Given the description of an element on the screen output the (x, y) to click on. 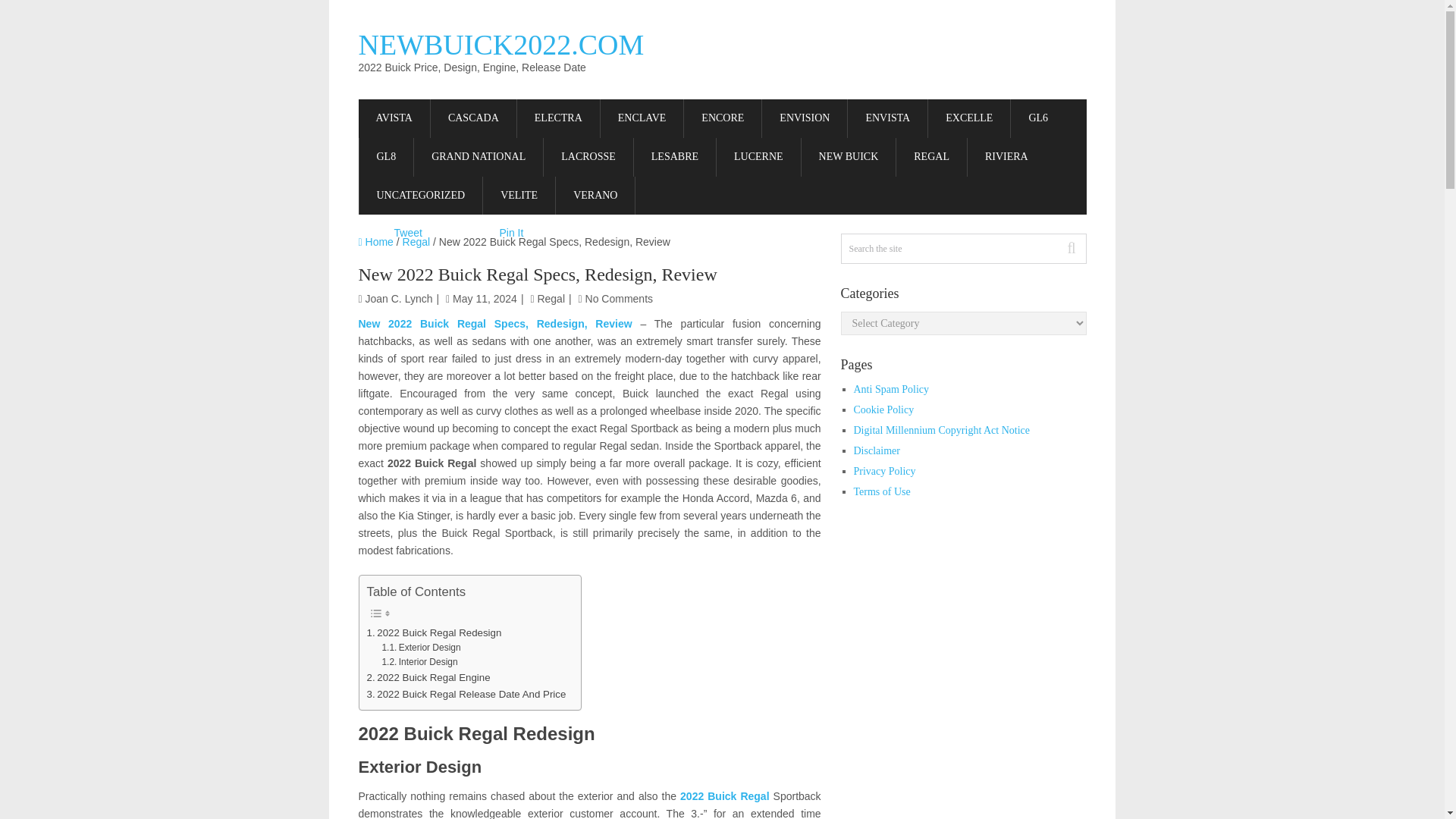
2022 Buick Regal Redesign (434, 632)
Joan C. Lynch (398, 298)
REGAL (931, 157)
EXCELLE (969, 118)
LESABRE (674, 157)
2022 Buick Regal Redesign (434, 632)
VELITE (518, 195)
CASCADA (473, 118)
Home (375, 241)
ENVISTA (887, 118)
Exterior Design (420, 647)
Regal (550, 298)
RIVIERA (1006, 157)
LACROSSE (588, 157)
Exterior Design (420, 647)
